Given the description of an element on the screen output the (x, y) to click on. 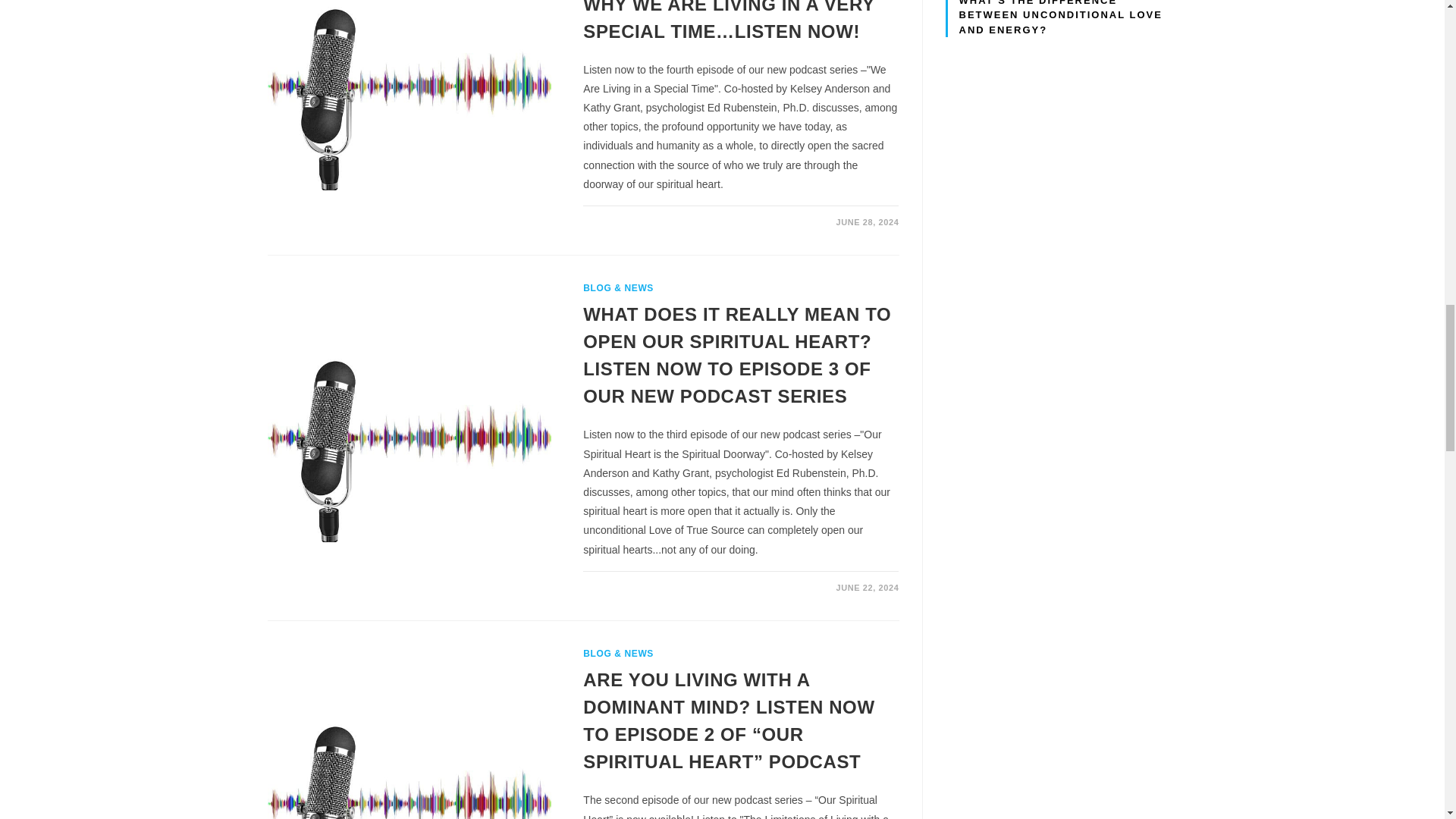
Unconditional Love vs. "Energy" (1060, 117)
